Given the description of an element on the screen output the (x, y) to click on. 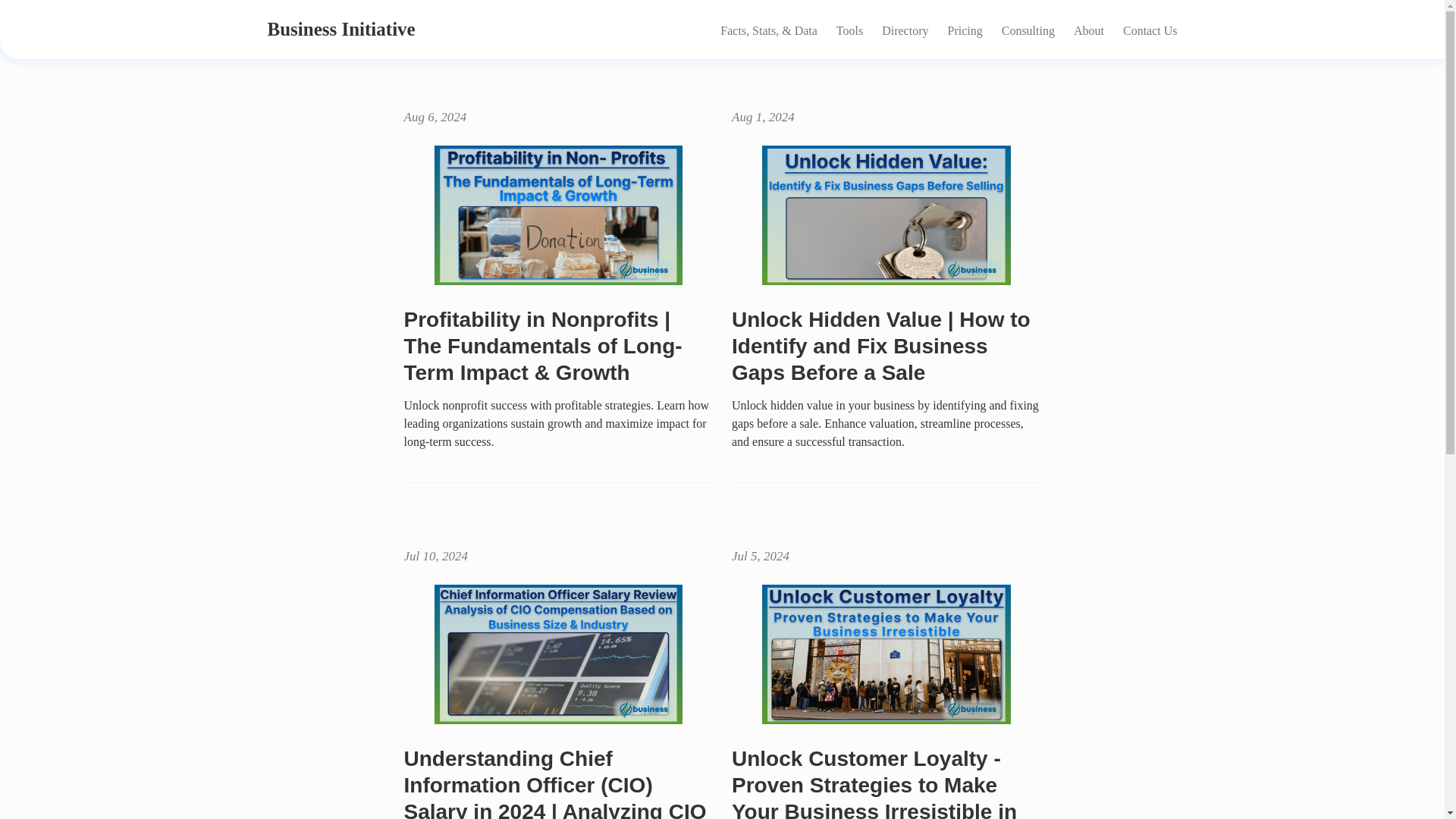
Business Initiative (340, 14)
About (1088, 18)
Consulting (1027, 17)
Directory (905, 15)
Tools (849, 15)
Contact Us (1149, 19)
Pricing (964, 16)
